Given the description of an element on the screen output the (x, y) to click on. 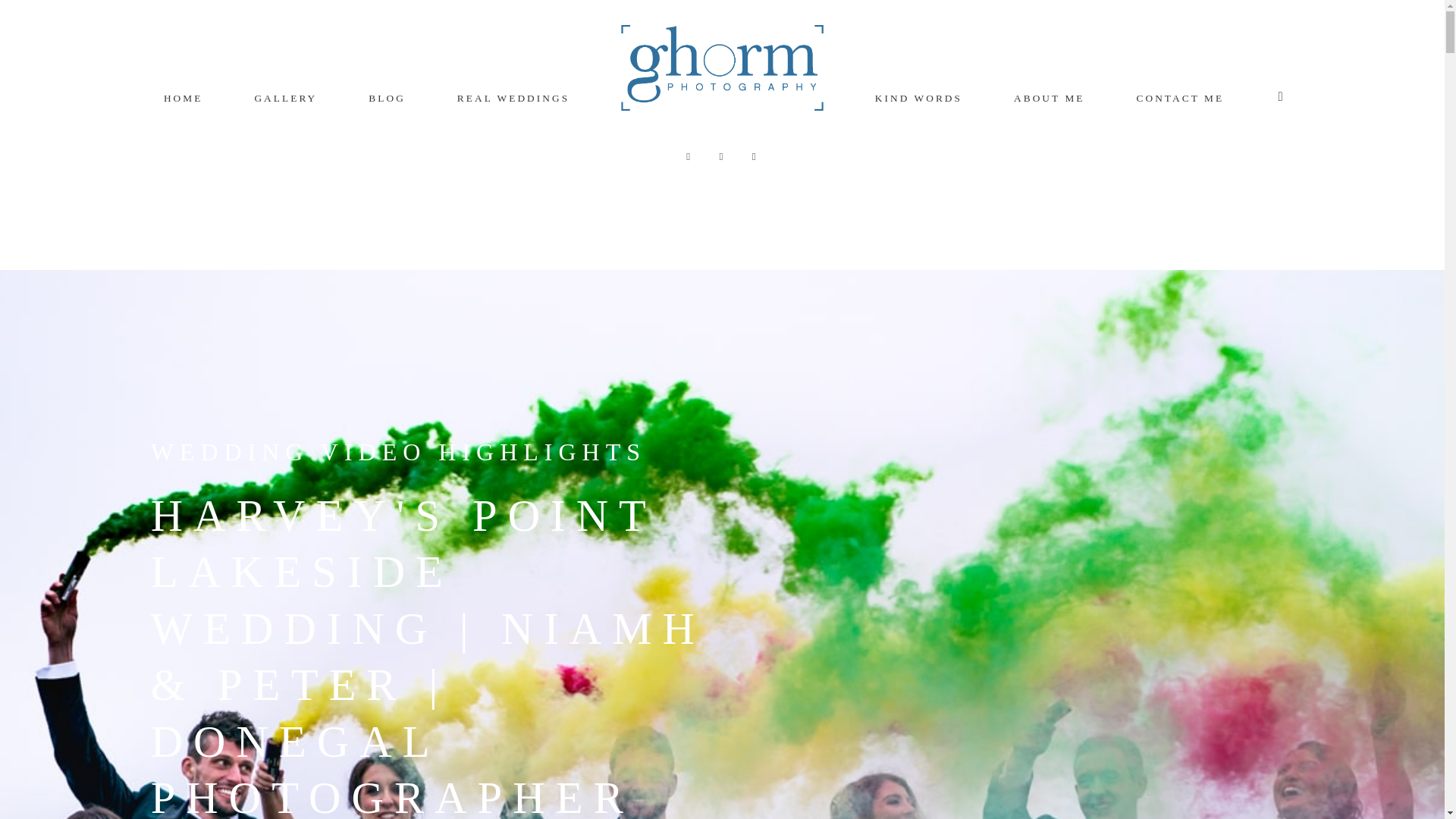
HOME (183, 98)
CONTACT ME (1180, 98)
WEDDING VIDEO HIGHLIGHTS (398, 452)
BLOG (387, 98)
KIND WORDS (918, 98)
REAL WEDDINGS (513, 98)
ABOUT ME (1048, 98)
GALLERY (285, 98)
